Given the description of an element on the screen output the (x, y) to click on. 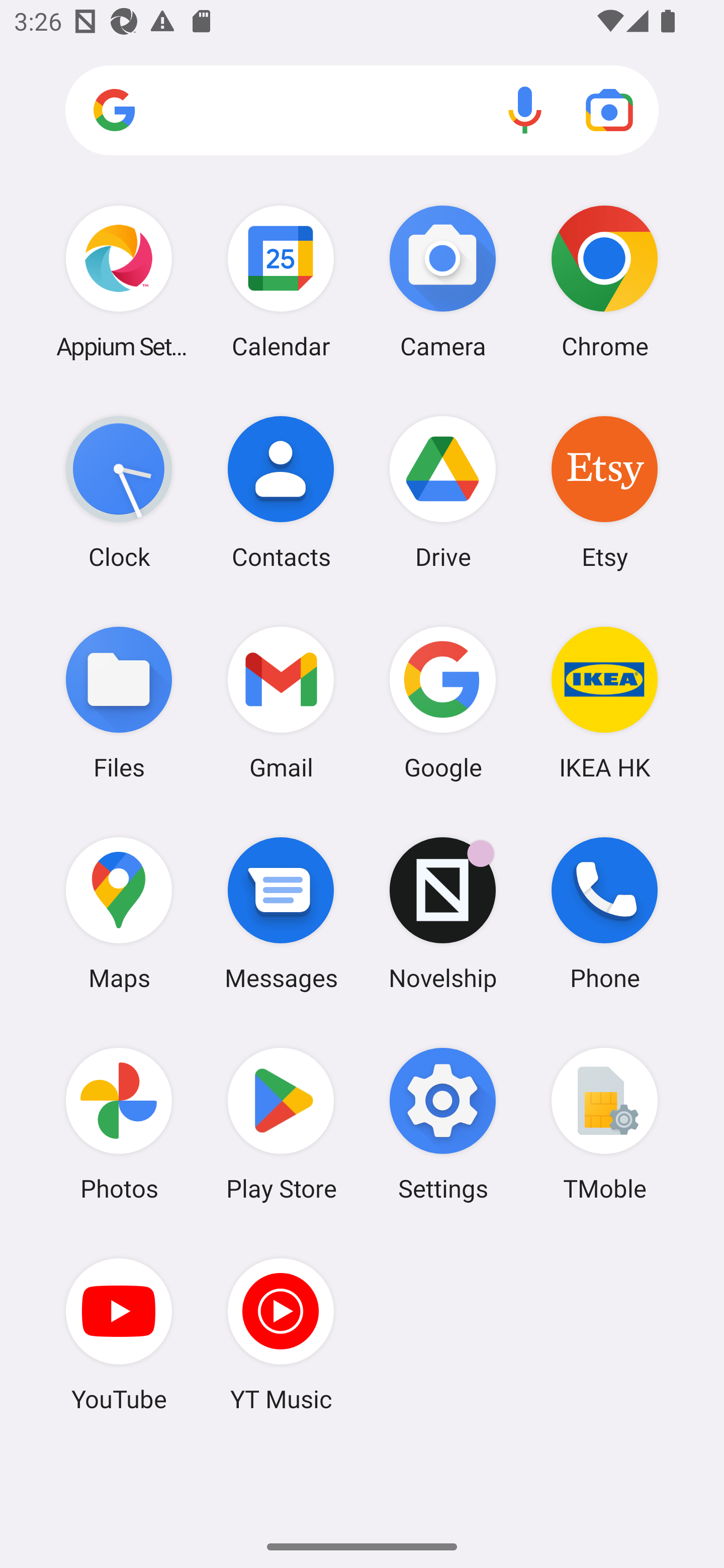
Search apps, web and more (361, 110)
Voice search (524, 109)
Google Lens (608, 109)
Appium Settings (118, 281)
Calendar (280, 281)
Camera (443, 281)
Chrome (604, 281)
Clock (118, 492)
Contacts (280, 492)
Drive (443, 492)
Etsy (604, 492)
Files (118, 702)
Gmail (280, 702)
Google (443, 702)
IKEA HK (604, 702)
Maps (118, 913)
Messages (280, 913)
Novelship Novelship has 5 notifications (443, 913)
Phone (604, 913)
Photos (118, 1124)
Play Store (280, 1124)
Settings (443, 1124)
TMoble (604, 1124)
YouTube (118, 1334)
YT Music (280, 1334)
